Given the description of an element on the screen output the (x, y) to click on. 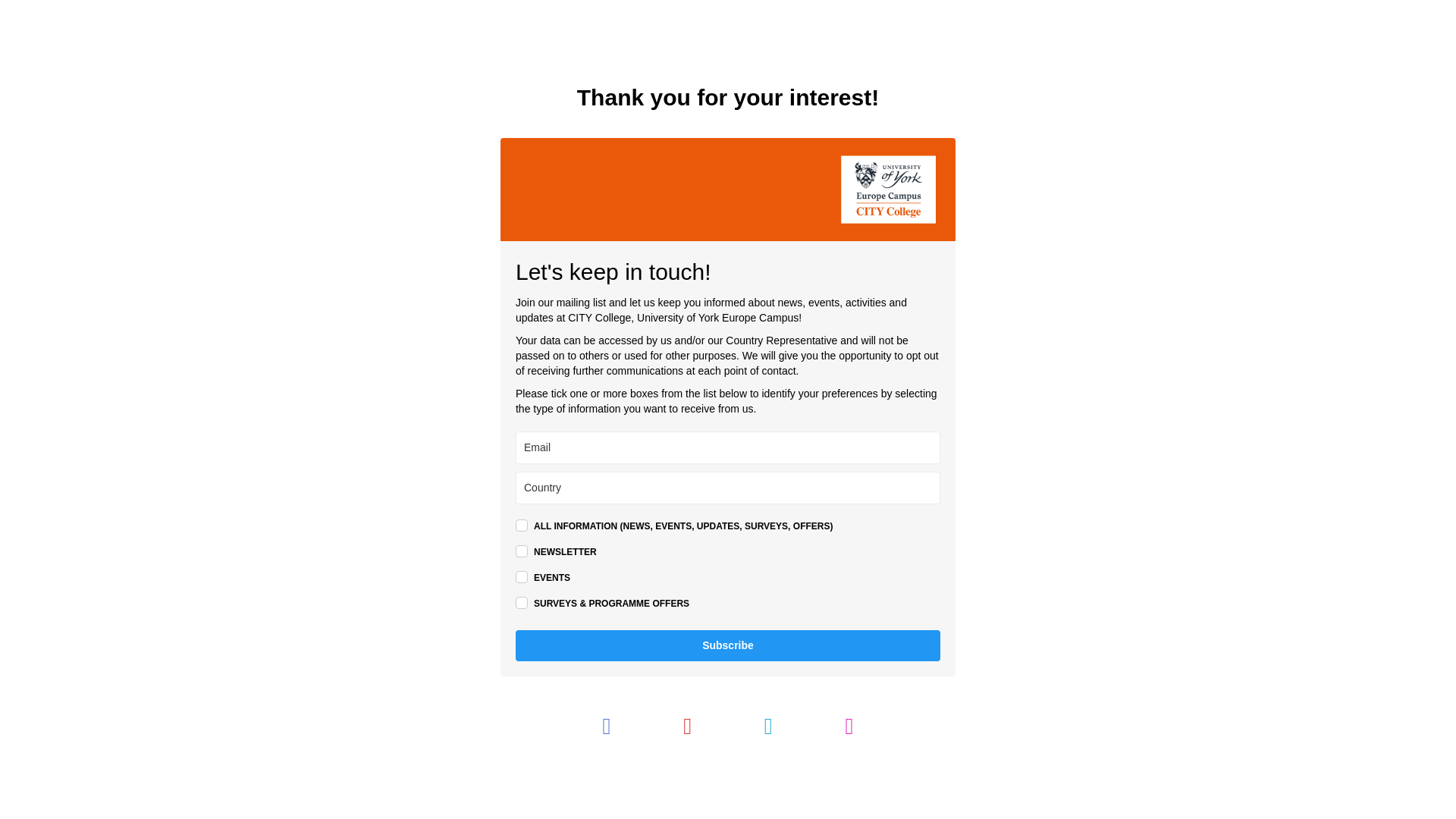
Subscribe (727, 644)
